Given the description of an element on the screen output the (x, y) to click on. 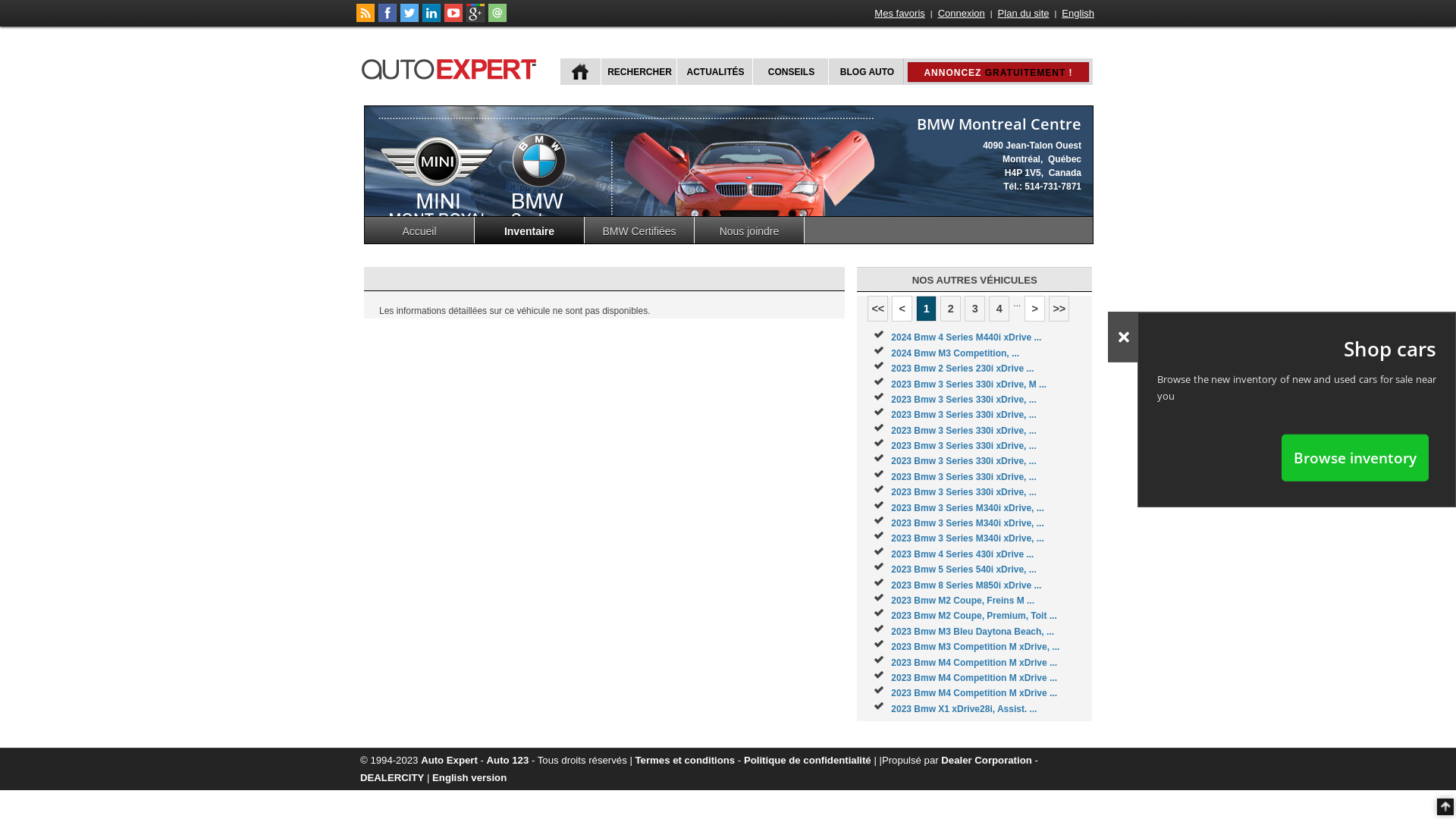
Auto 123 Element type: text (507, 759)
autoExpert.ca Element type: text (451, 66)
2023 Bmw M2 Coupe, Freins M ... Element type: text (962, 600)
Termes et conditions Element type: text (685, 759)
Browse inventory Element type: text (1354, 457)
2023 Bmw 3 Series 330i xDrive, ... Element type: text (963, 460)
2023 Bmw 3 Series 330i xDrive, ... Element type: text (963, 399)
2023 Bmw 3 Series M340i xDrive, ... Element type: text (967, 538)
DEALERCITY Element type: text (391, 777)
2024 Bmw M3 Competition, ... Element type: text (955, 353)
2023 Bmw M3 Competition M xDrive, ... Element type: text (975, 646)
Plan du site Element type: text (1023, 13)
2023 Bmw 3 Series 330i xDrive, ... Element type: text (963, 430)
Accueil Element type: text (419, 229)
Auto Expert Element type: text (448, 759)
2023 Bmw X1 xDrive28i, Assist. ... Element type: text (963, 708)
2023 Bmw M4 Competition M xDrive ... Element type: text (974, 692)
Connexion Element type: text (961, 13)
2023 Bmw 3 Series M340i xDrive, ... Element type: text (967, 522)
ACCUEIL Element type: text (580, 71)
Inventaire Element type: text (529, 229)
CONSEILS Element type: text (789, 71)
BLOG AUTO Element type: text (865, 71)
2023 Bmw 2 Series 230i xDrive ... Element type: text (962, 368)
Suivez autoExpert.ca sur Facebook Element type: hover (387, 18)
4 Element type: text (998, 308)
2023 Bmw 3 Series 330i xDrive, ... Element type: text (963, 491)
< Element type: text (901, 308)
2023 Bmw M3 Bleu Daytona Beach, ... Element type: text (972, 631)
Dealer Corporation Element type: text (986, 759)
2023 Bmw 3 Series 330i xDrive, ... Element type: text (963, 445)
2024 Bmw 4 Series M440i xDrive ... Element type: text (966, 337)
2023 Bmw 5 Series 540i xDrive, ... Element type: text (963, 569)
> Element type: text (1034, 308)
Nous joindre Element type: text (749, 229)
>> Element type: text (1058, 308)
2023 Bmw 4 Series 430i xDrive ... Element type: text (962, 554)
2023 Bmw M4 Competition M xDrive ... Element type: text (974, 677)
2 Element type: text (950, 308)
Mes favoris Element type: text (898, 13)
1 Element type: text (926, 308)
<< Element type: text (877, 308)
Suivez autoExpert.ca sur Youtube Element type: hover (453, 18)
2023 Bmw 3 Series M340i xDrive, ... Element type: text (967, 507)
2023 Bmw 3 Series 330i xDrive, ... Element type: text (963, 476)
English version Element type: text (469, 777)
RECHERCHER Element type: text (637, 71)
Suivez Publications Le Guide Inc. sur LinkedIn Element type: hover (431, 18)
Suivez autoExpert.ca sur Twitter Element type: hover (409, 18)
2023 Bmw M2 Coupe, Premium, Toit ... Element type: text (974, 615)
English Element type: text (1077, 13)
Suivez autoExpert.ca sur Google Plus Element type: hover (475, 18)
2023 Bmw 3 Series 330i xDrive, ... Element type: text (963, 414)
Joindre autoExpert.ca Element type: hover (497, 18)
ANNONCEZ GRATUITEMENT ! Element type: text (997, 71)
2023 Bmw M4 Competition M xDrive ... Element type: text (974, 662)
2023 Bmw 8 Series M850i xDrive ... Element type: text (966, 585)
2023 Bmw 3 Series 330i xDrive, M ... Element type: text (968, 384)
3 Element type: text (974, 308)
